Given the description of an element on the screen output the (x, y) to click on. 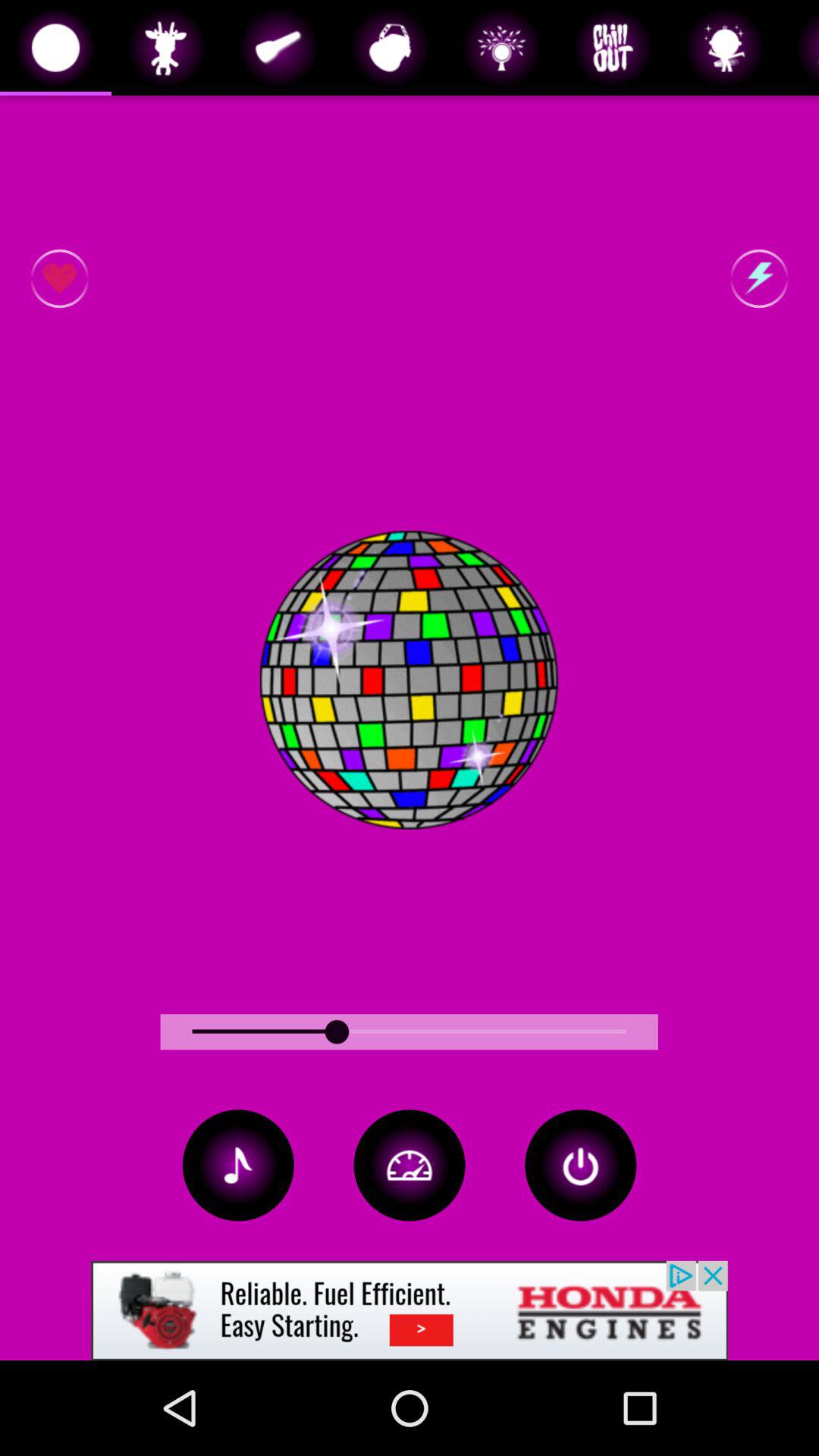
click on music icon (238, 1165)
